Given the description of an element on the screen output the (x, y) to click on. 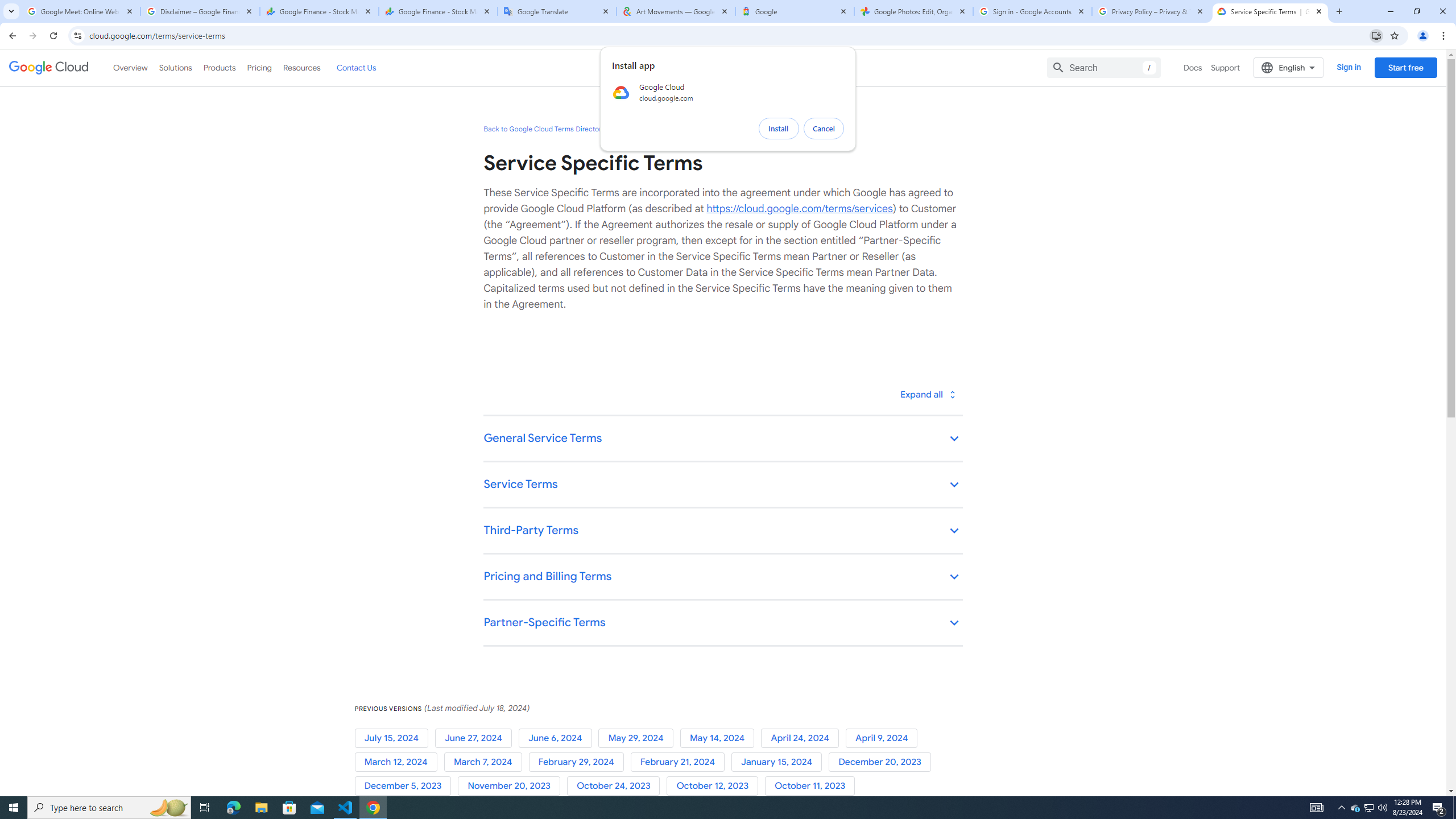
Contact Us (355, 67)
Products (218, 67)
Start free (1405, 67)
Install Google Cloud (1376, 35)
June 27, 2024 (475, 737)
